Given the description of an element on the screen output the (x, y) to click on. 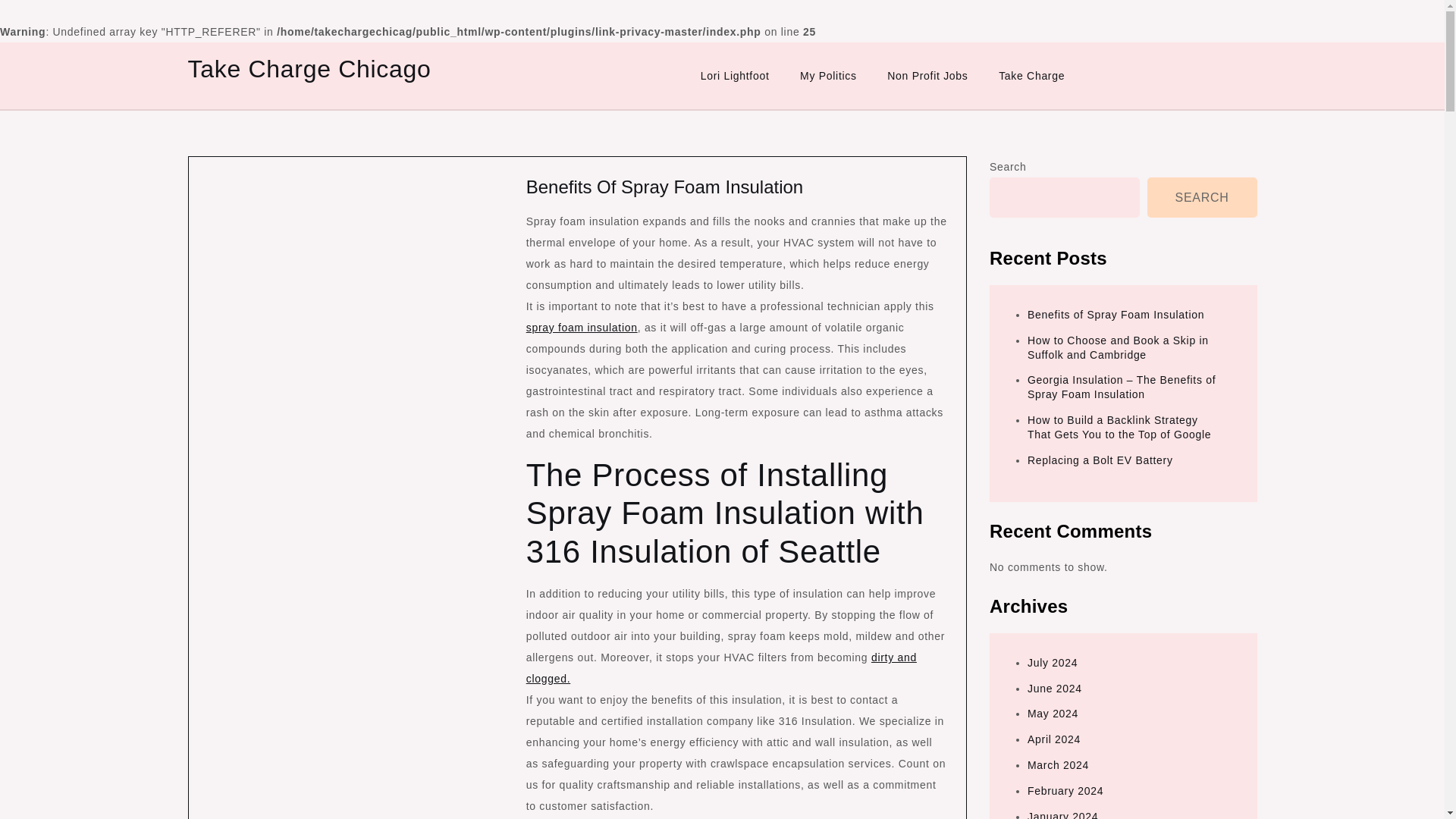
Benefits Of Spray Foam Insulation (664, 186)
My Politics (828, 75)
Non Profit Jobs (927, 75)
Take Charge Chicago (308, 68)
dirty and clogged. (721, 667)
Take Charge (1031, 75)
Lori Lightfoot (735, 75)
spray foam insulation (581, 327)
